Given the description of an element on the screen output the (x, y) to click on. 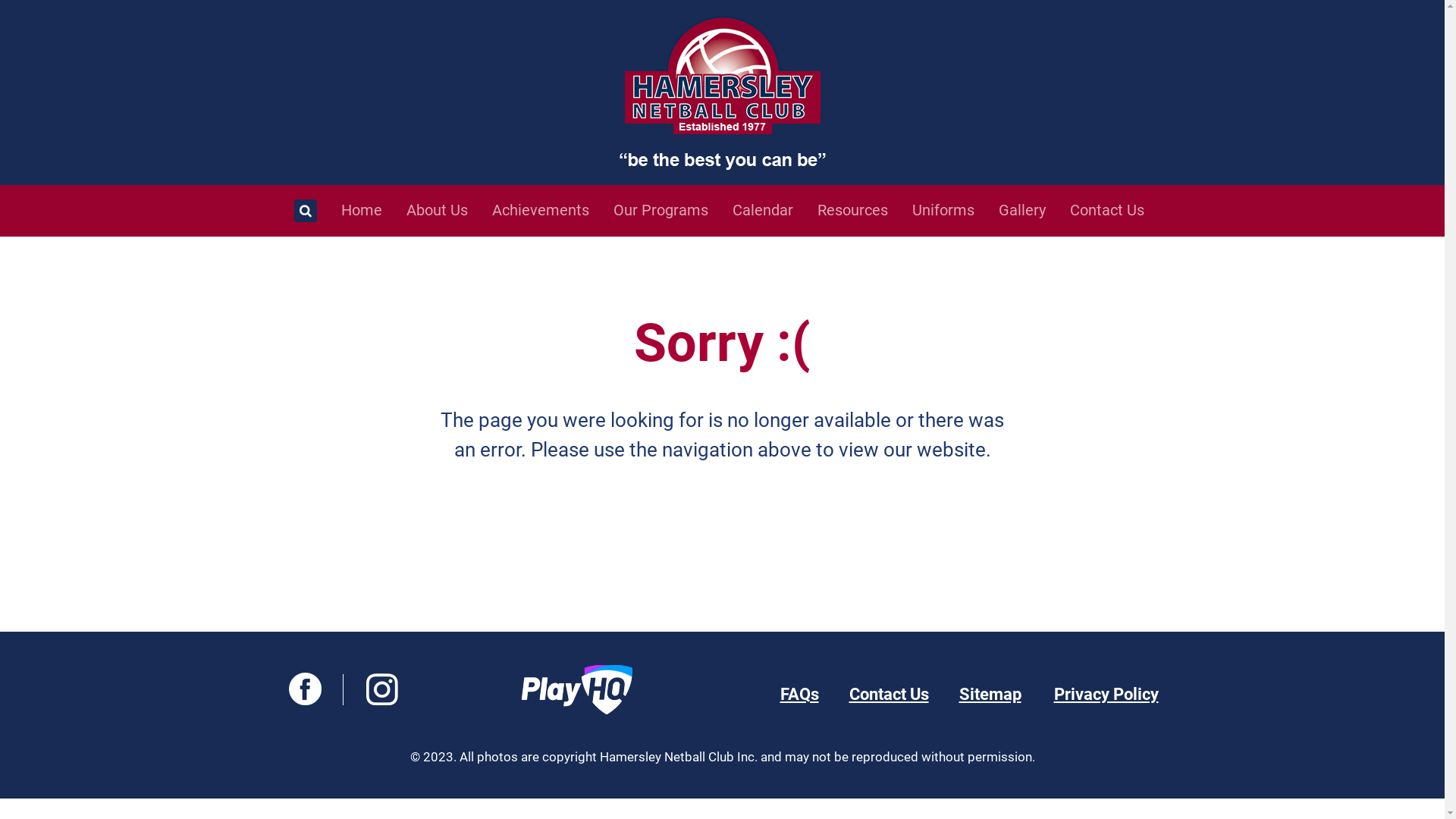
Our Programs Element type: text (670, 209)
Achievements Element type: text (549, 209)
Facebook Element type: hover (304, 692)
Uniforms Element type: text (952, 209)
Privacy Policy Element type: text (1106, 693)
Gallery Element type: text (1031, 209)
Calendar Element type: text (772, 209)
Sitemap Element type: text (989, 693)
Contact Us Element type: text (888, 693)
About Us Element type: text (447, 209)
PlayHQ Element type: hover (576, 689)
Instagram Element type: hover (382, 692)
Contact Us Element type: text (1116, 209)
Home Element type: text (361, 209)
FAQs Element type: text (798, 693)
Resources Element type: text (862, 209)
